Given the description of an element on the screen output the (x, y) to click on. 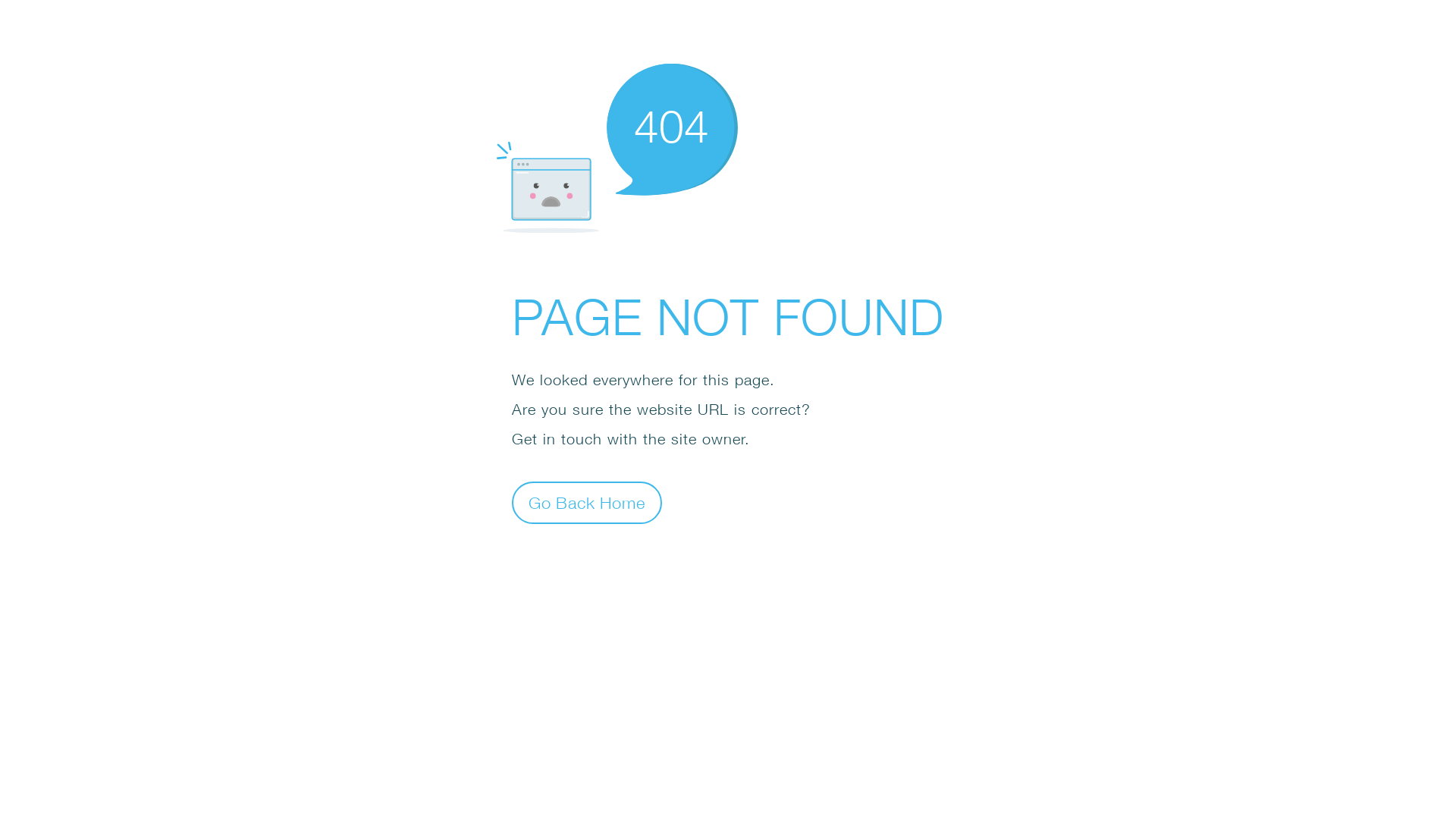
Go Back Home Element type: text (586, 502)
